Given the description of an element on the screen output the (x, y) to click on. 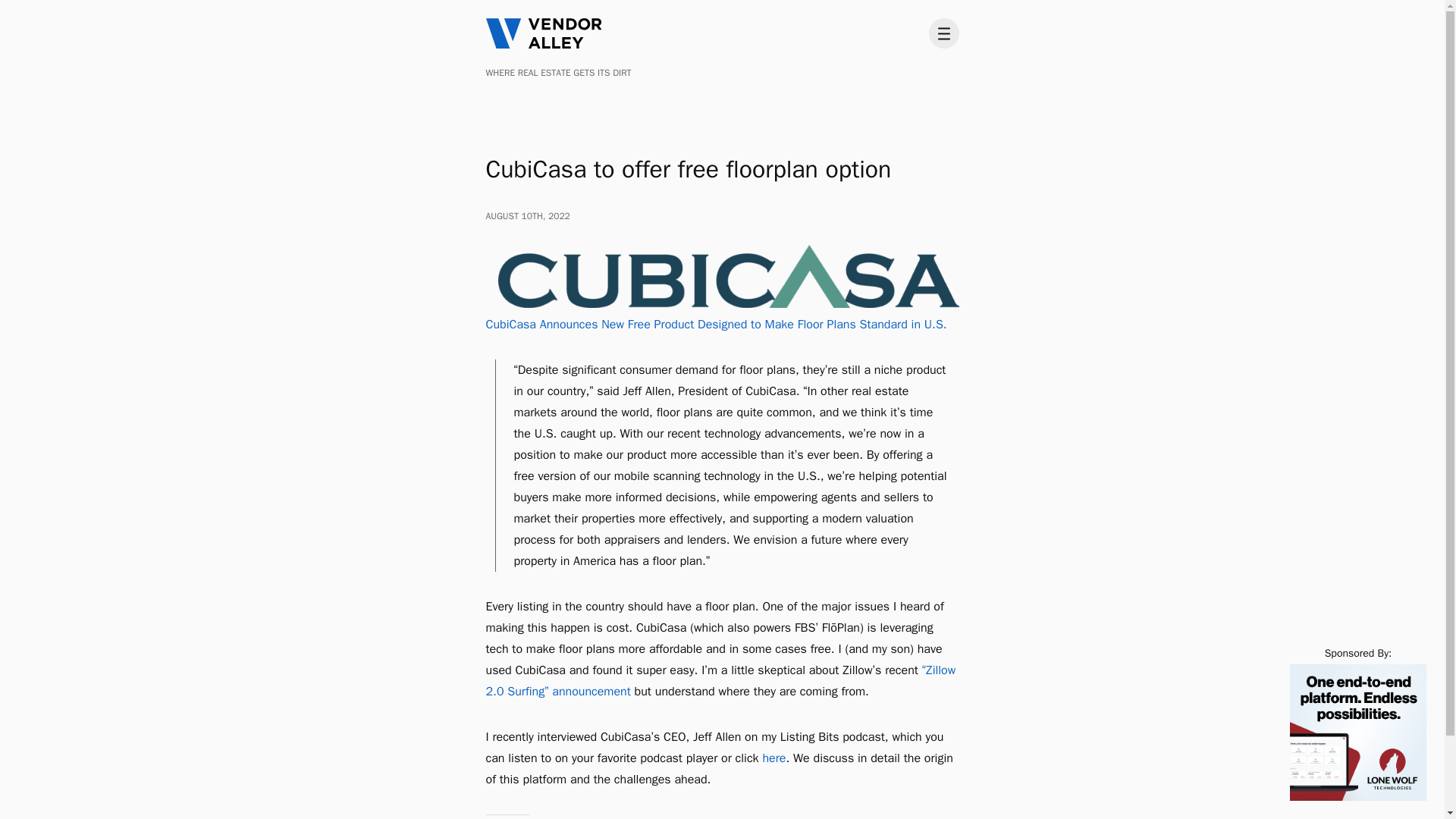
Menu (943, 33)
here (773, 758)
